Given the description of an element on the screen output the (x, y) to click on. 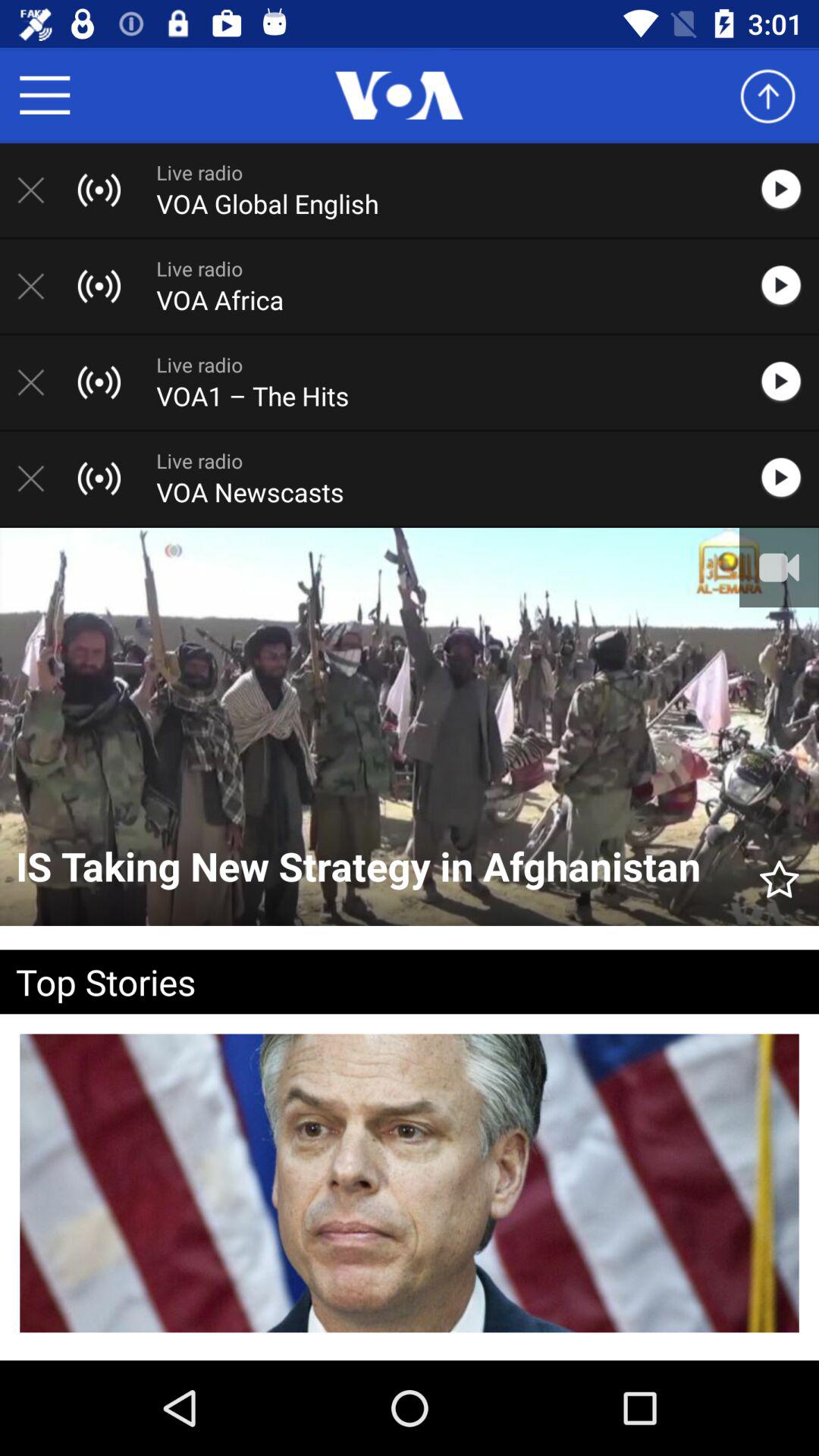
close radio channel (38, 190)
